Given the description of an element on the screen output the (x, y) to click on. 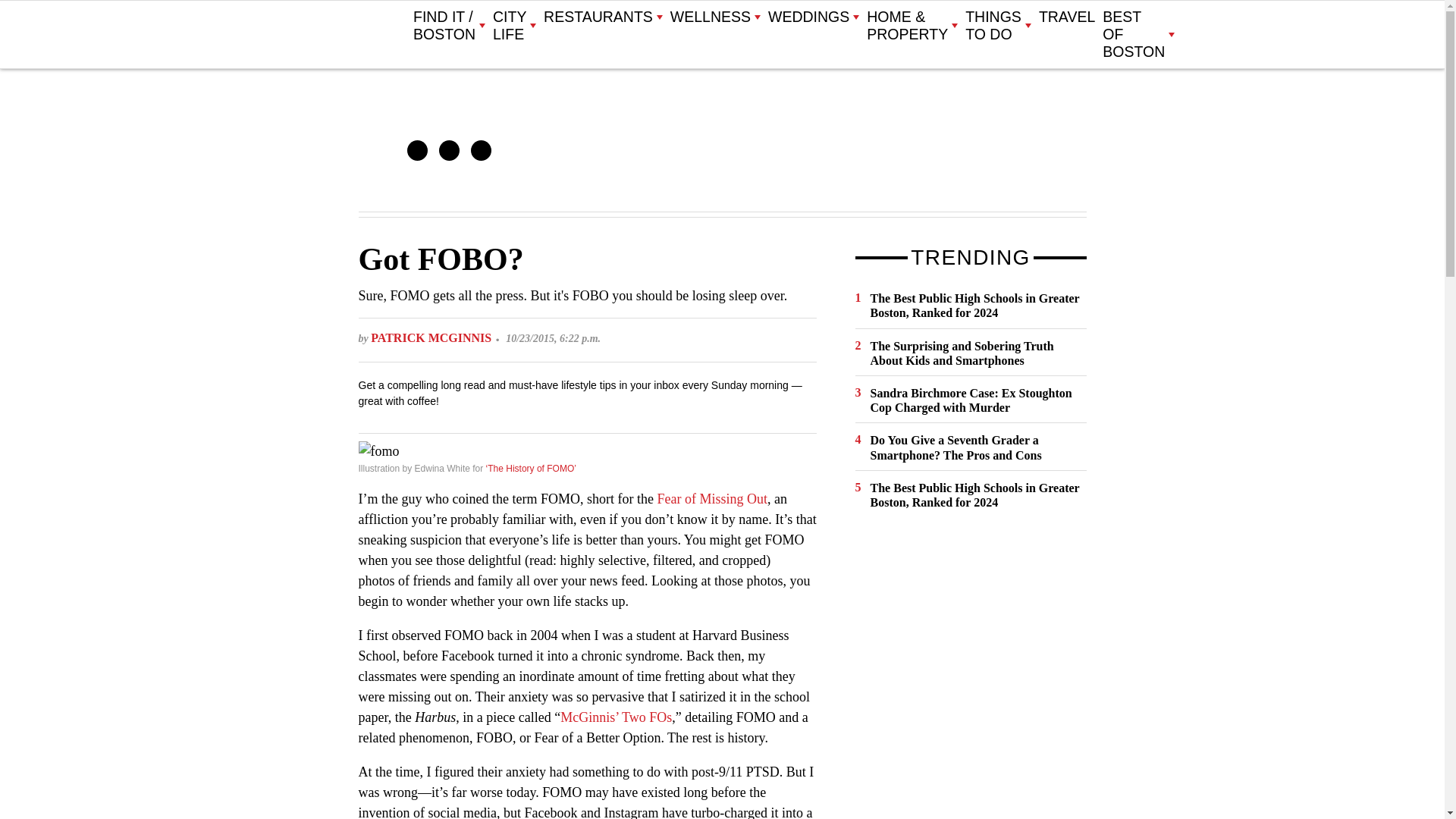
WEDDINGS (813, 16)
WELLNESS (714, 16)
RESTAURANTS (602, 16)
THINGS TO DO (997, 25)
